Given the description of an element on the screen output the (x, y) to click on. 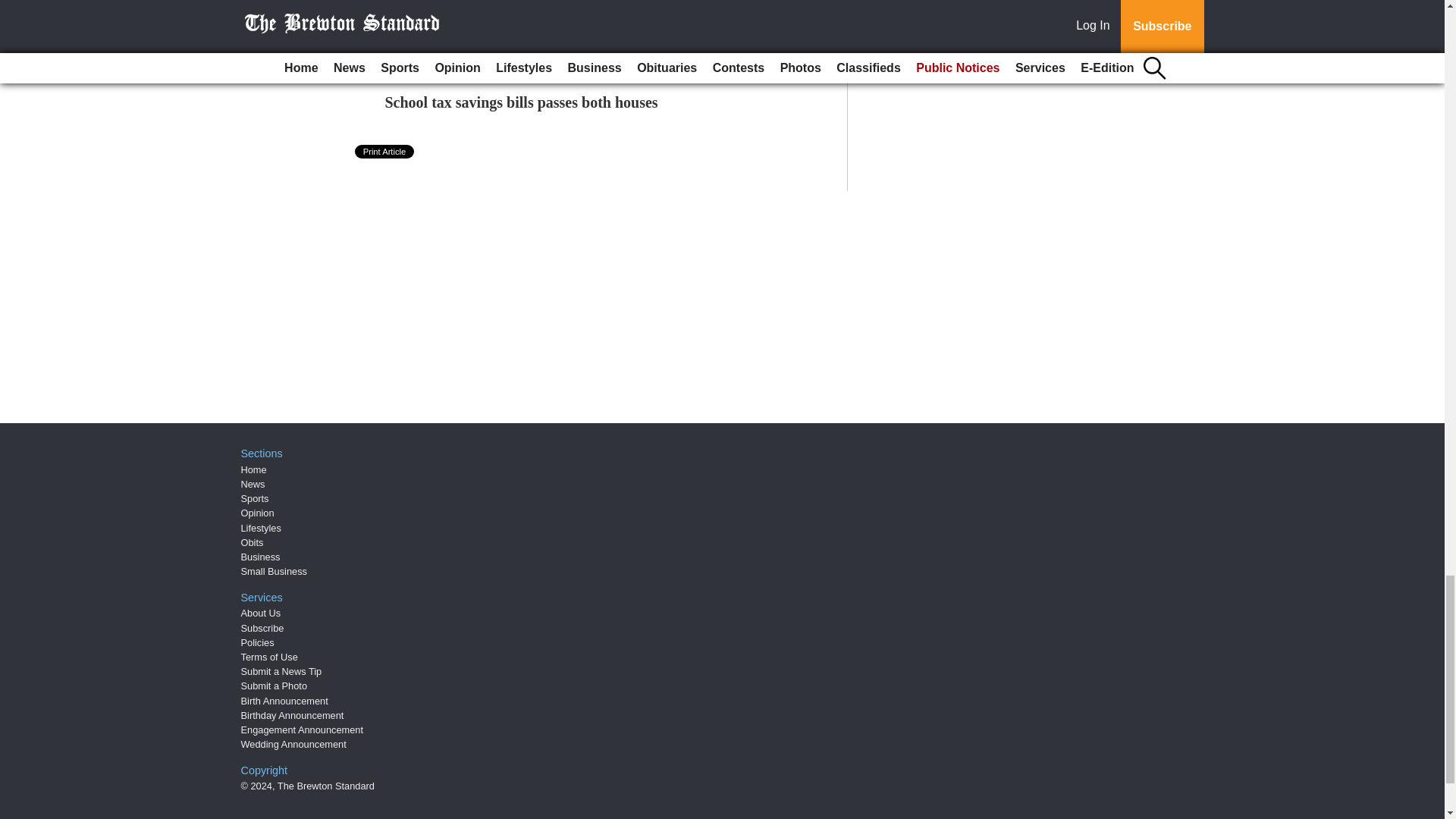
Home (253, 469)
Print Article (384, 151)
School tax savings bills passes both houses (521, 102)
School tax savings bills passes both houses (521, 102)
